Given the description of an element on the screen output the (x, y) to click on. 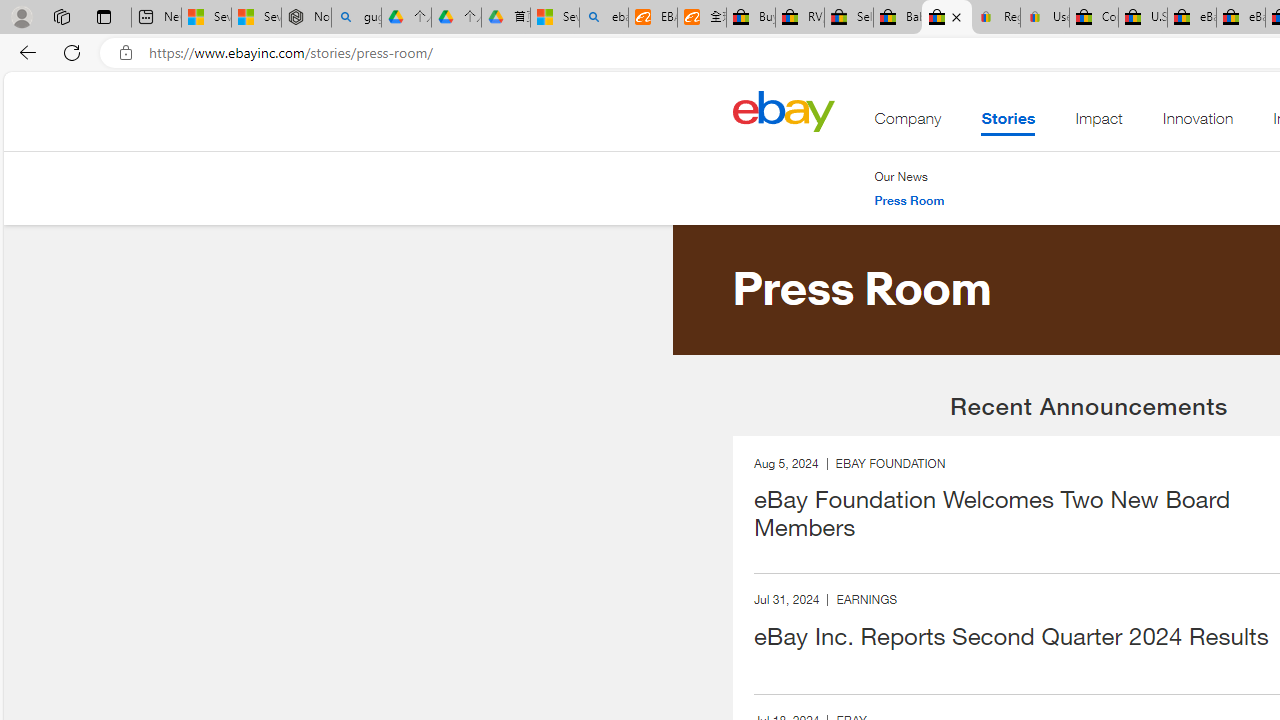
Stories . This is the current section. (1007, 123)
eBay Inc. Reports Third Quarter 2023 Results (1240, 17)
guge yunpan - Search (356, 17)
Press Room (909, 200)
Register: Create a personal eBay account (995, 17)
Company (908, 123)
Our News (909, 176)
Refresh (72, 52)
Innovation (1197, 123)
